Given the description of an element on the screen output the (x, y) to click on. 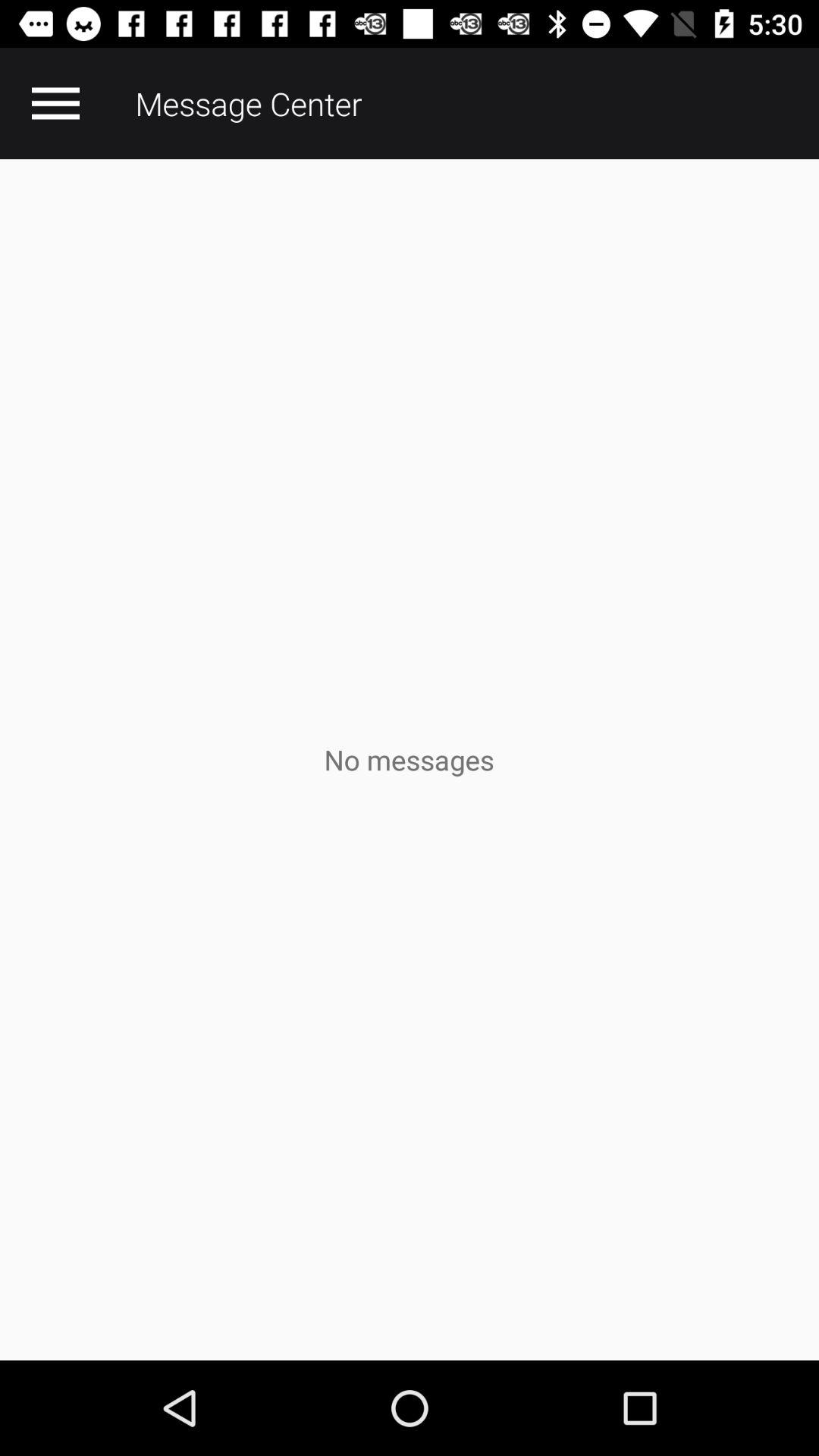
open menu (55, 103)
